Given the description of an element on the screen output the (x, y) to click on. 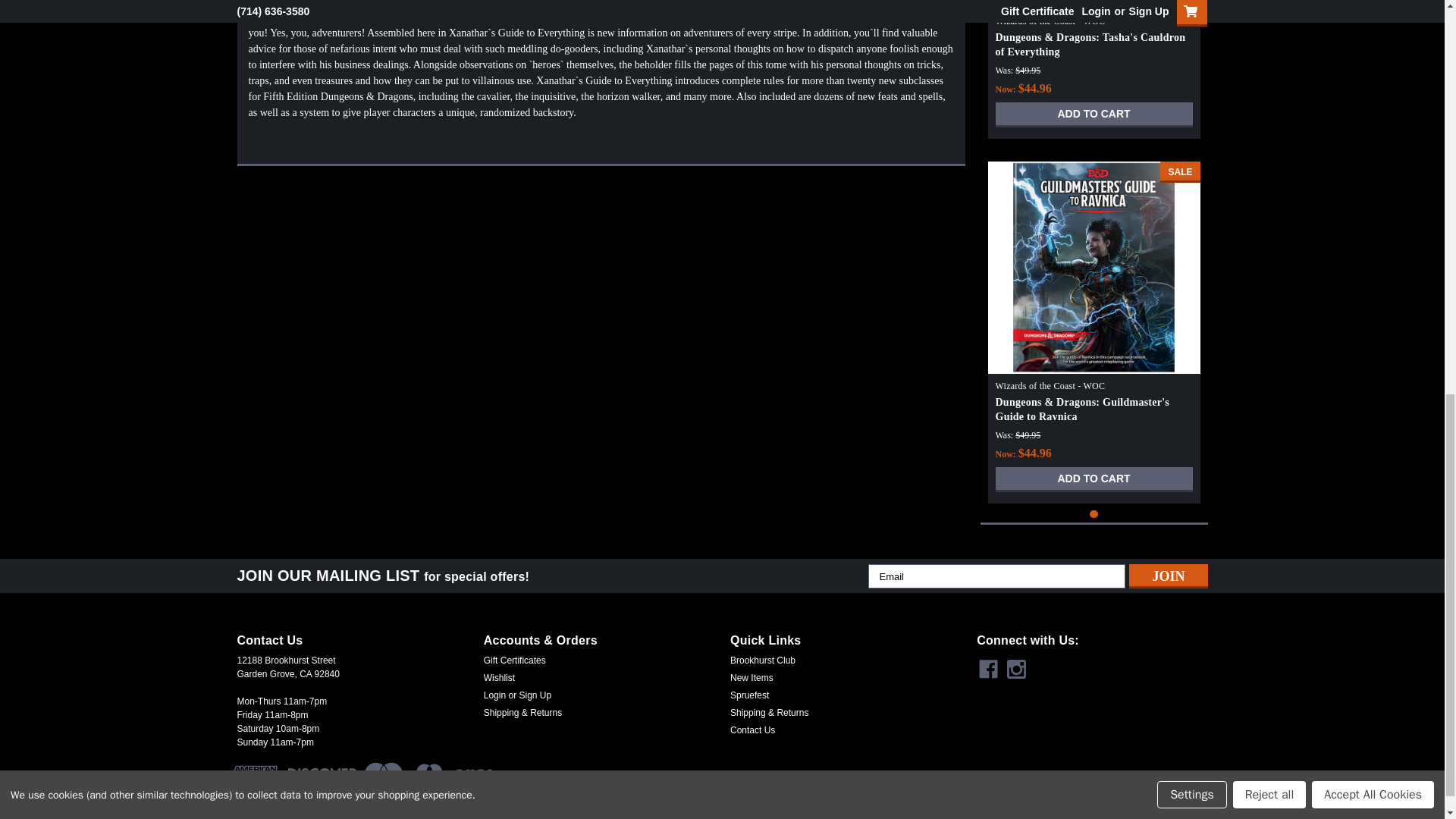
Join (1168, 576)
